Given the description of an element on the screen output the (x, y) to click on. 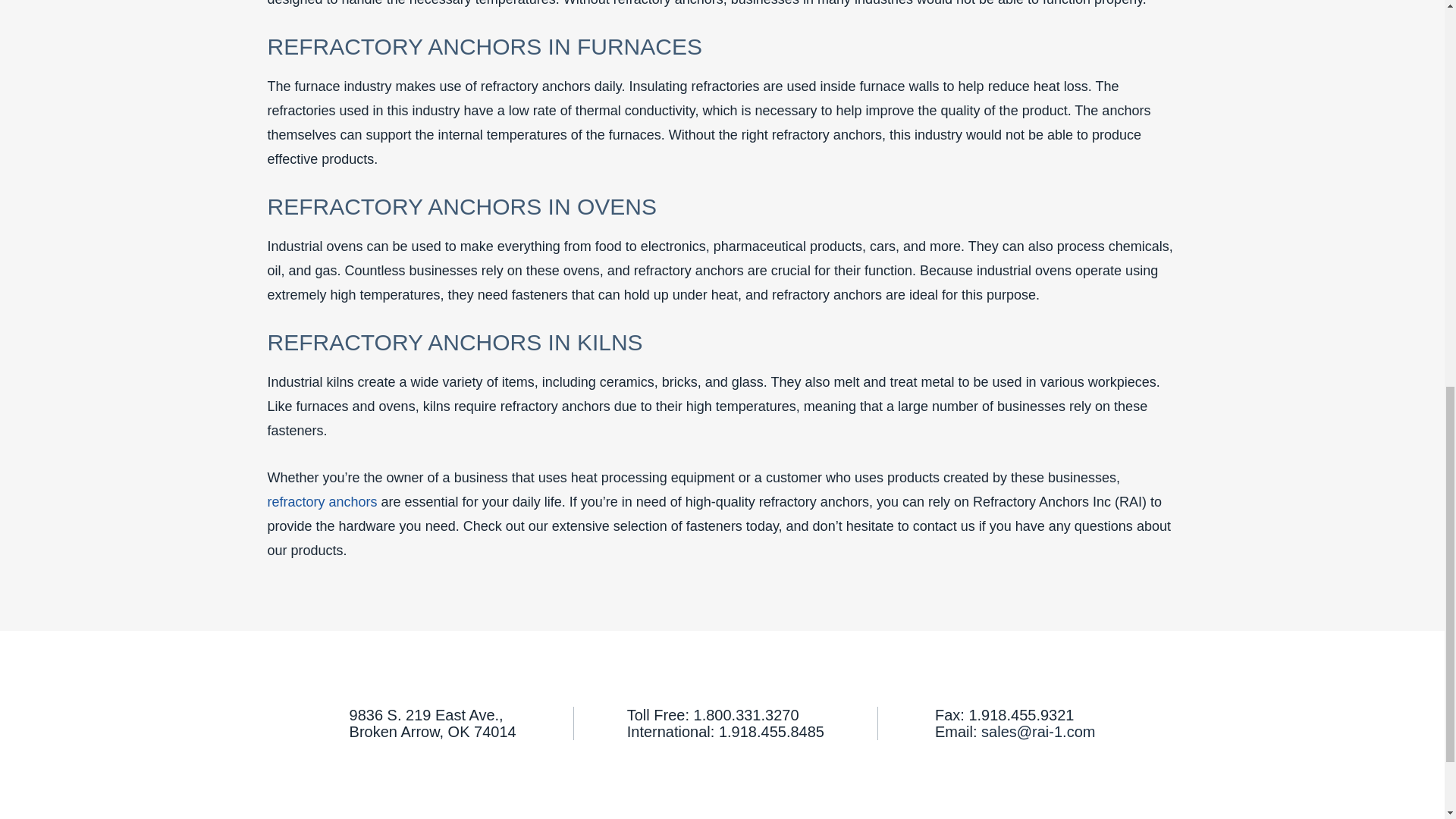
refractory anchors (321, 501)
